Given the description of an element on the screen output the (x, y) to click on. 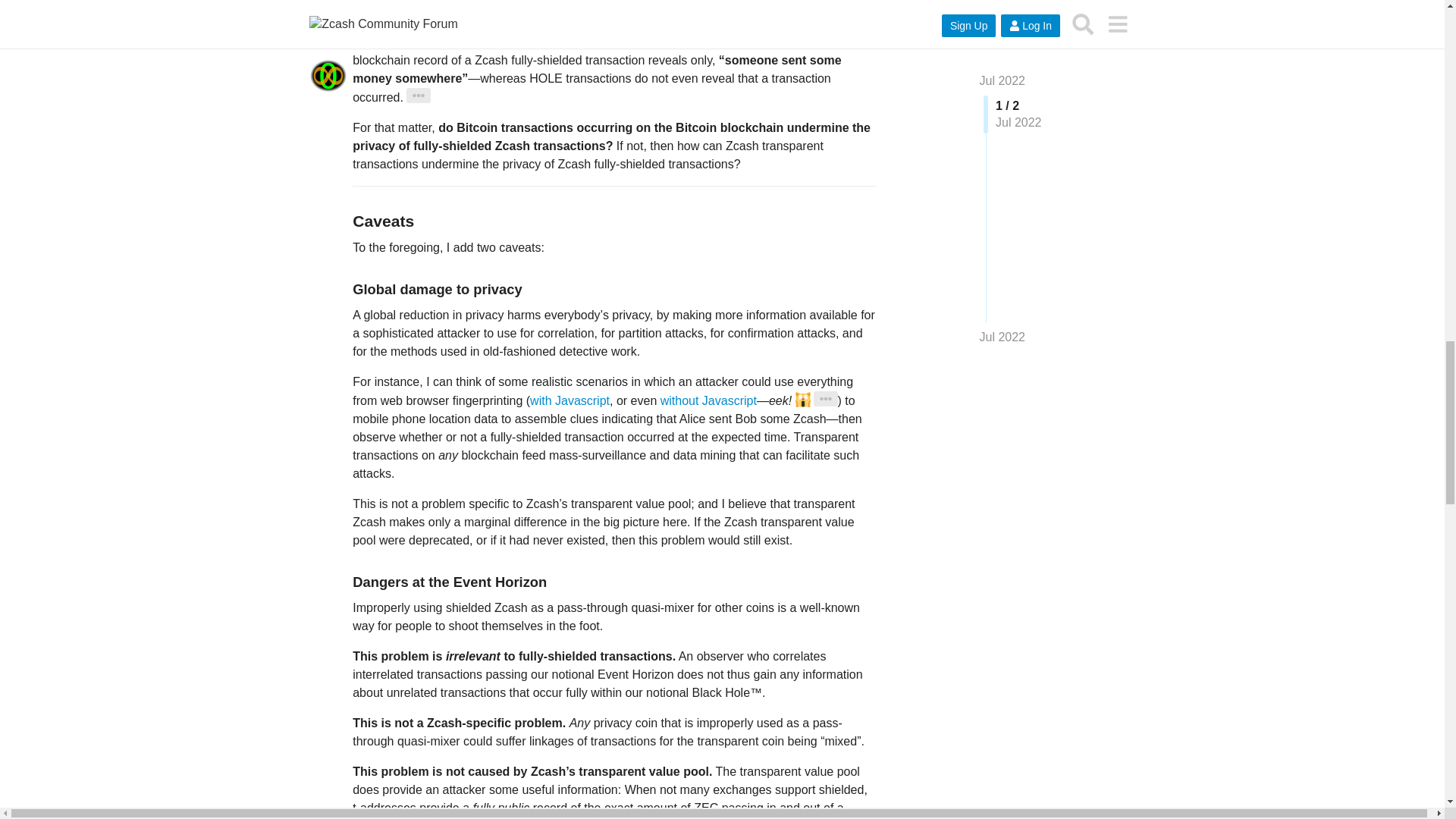
with Javascript (569, 400)
without Javascript (709, 400)
